Given the description of an element on the screen output the (x, y) to click on. 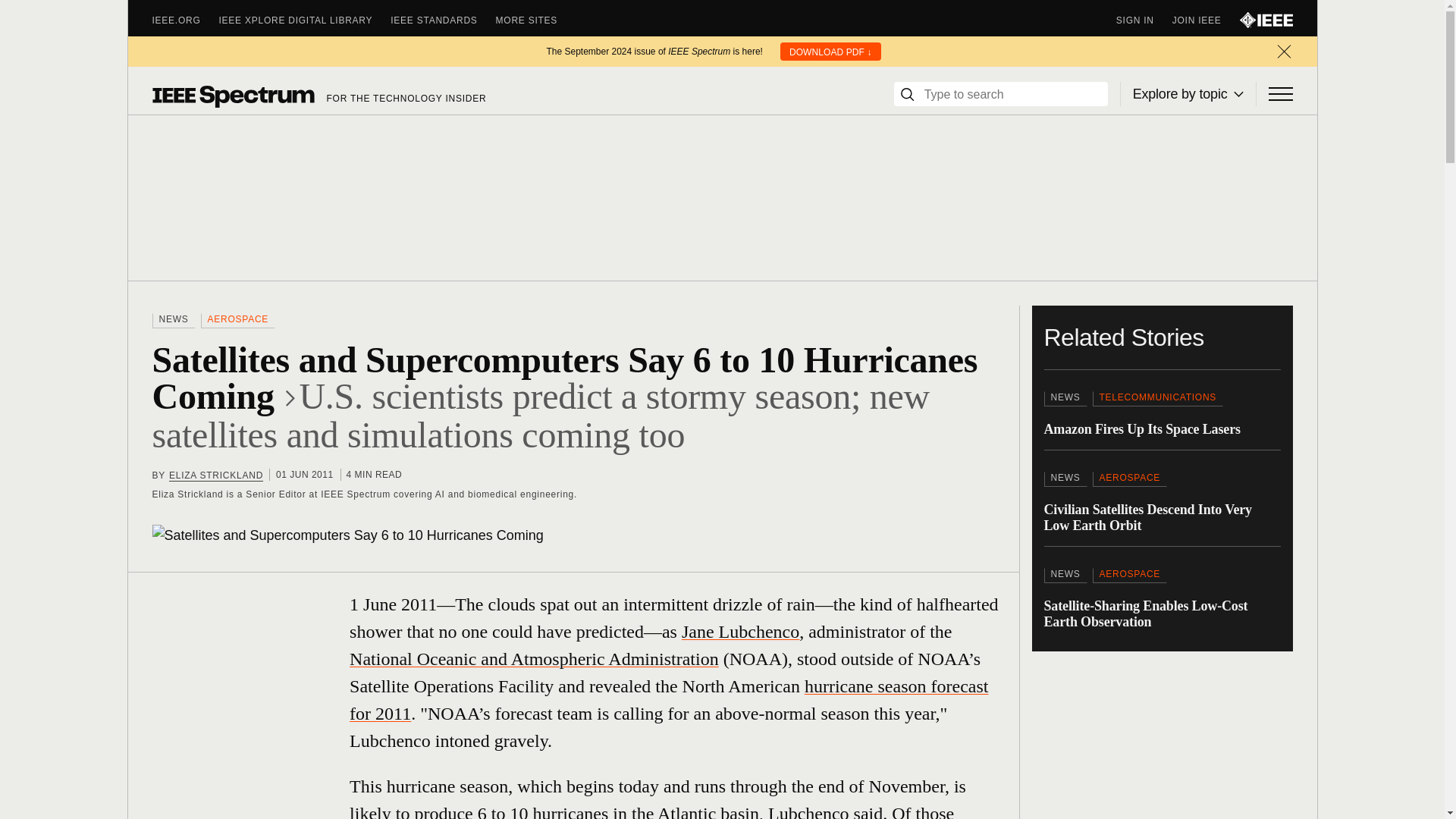
Spectrum Logo (232, 95)
Search (907, 93)
IEEE.ORG (184, 20)
SIGN IN (1144, 20)
MORE SITES (536, 20)
IEEE STANDARDS (442, 20)
Close bar (1283, 51)
IEEE XPLORE DIGITAL LIBRARY (305, 20)
JOIN IEEE (1206, 20)
